Given the description of an element on the screen output the (x, y) to click on. 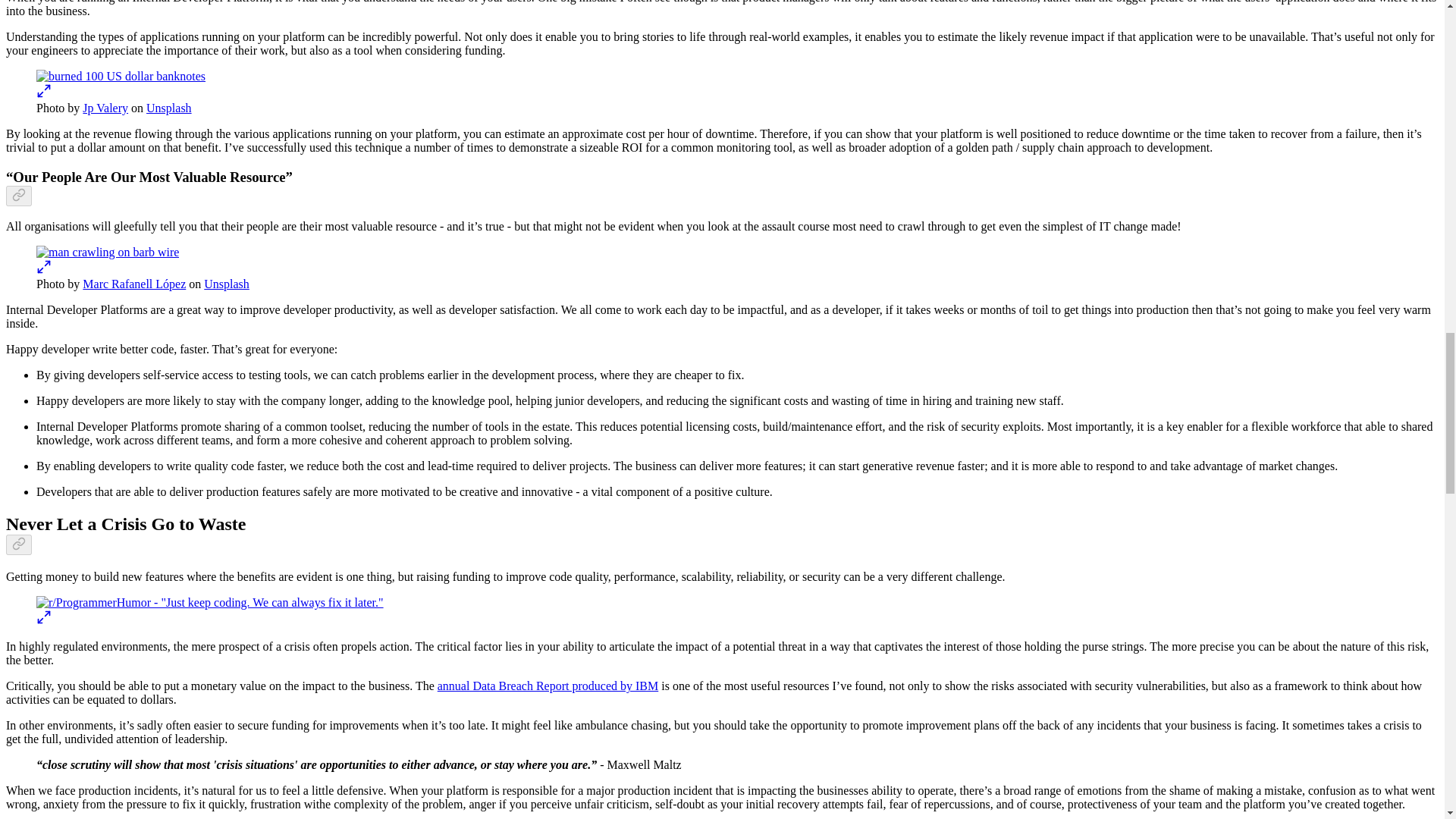
man crawling on barb wire (107, 252)
Unsplash (169, 107)
burned 100 US dollar banknotes (120, 76)
Unsplash (225, 283)
Jp Valery (105, 107)
